Given the description of an element on the screen output the (x, y) to click on. 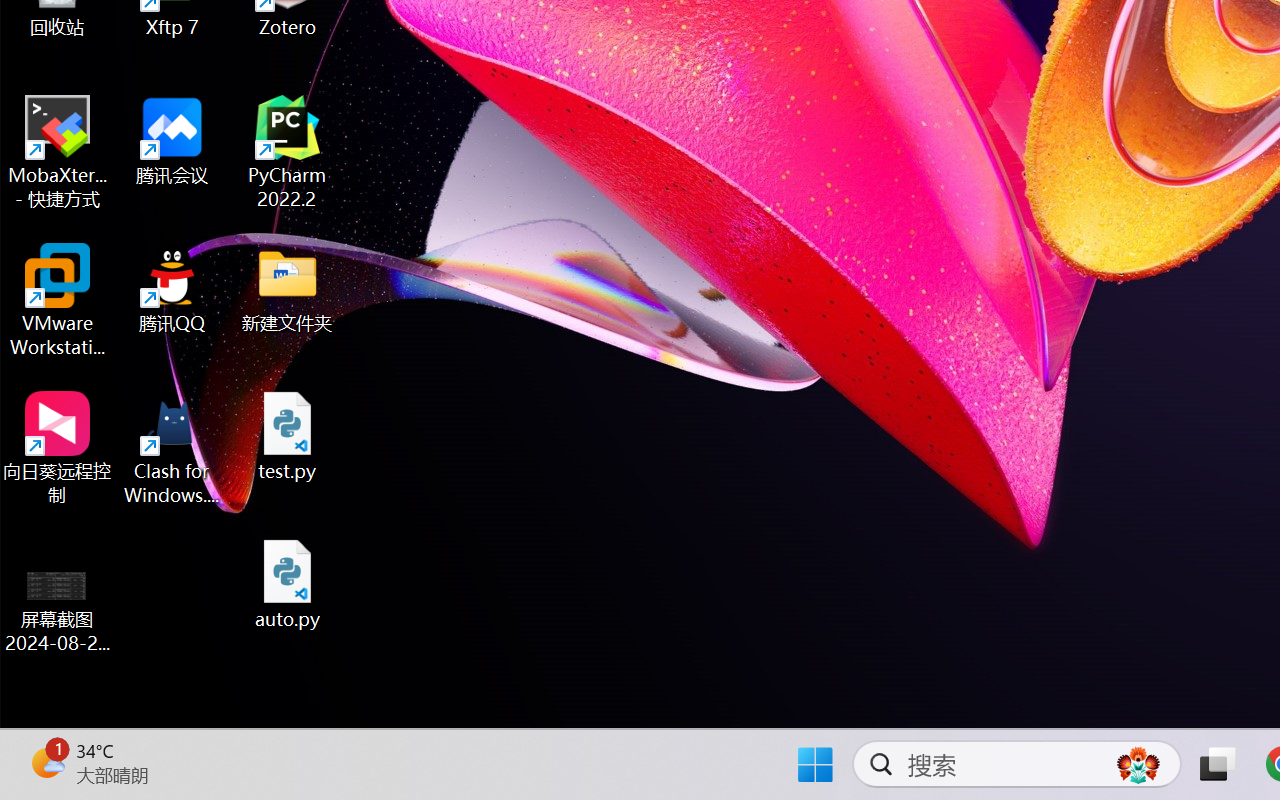
PyCharm 2022.2 (287, 152)
